Given the description of an element on the screen output the (x, y) to click on. 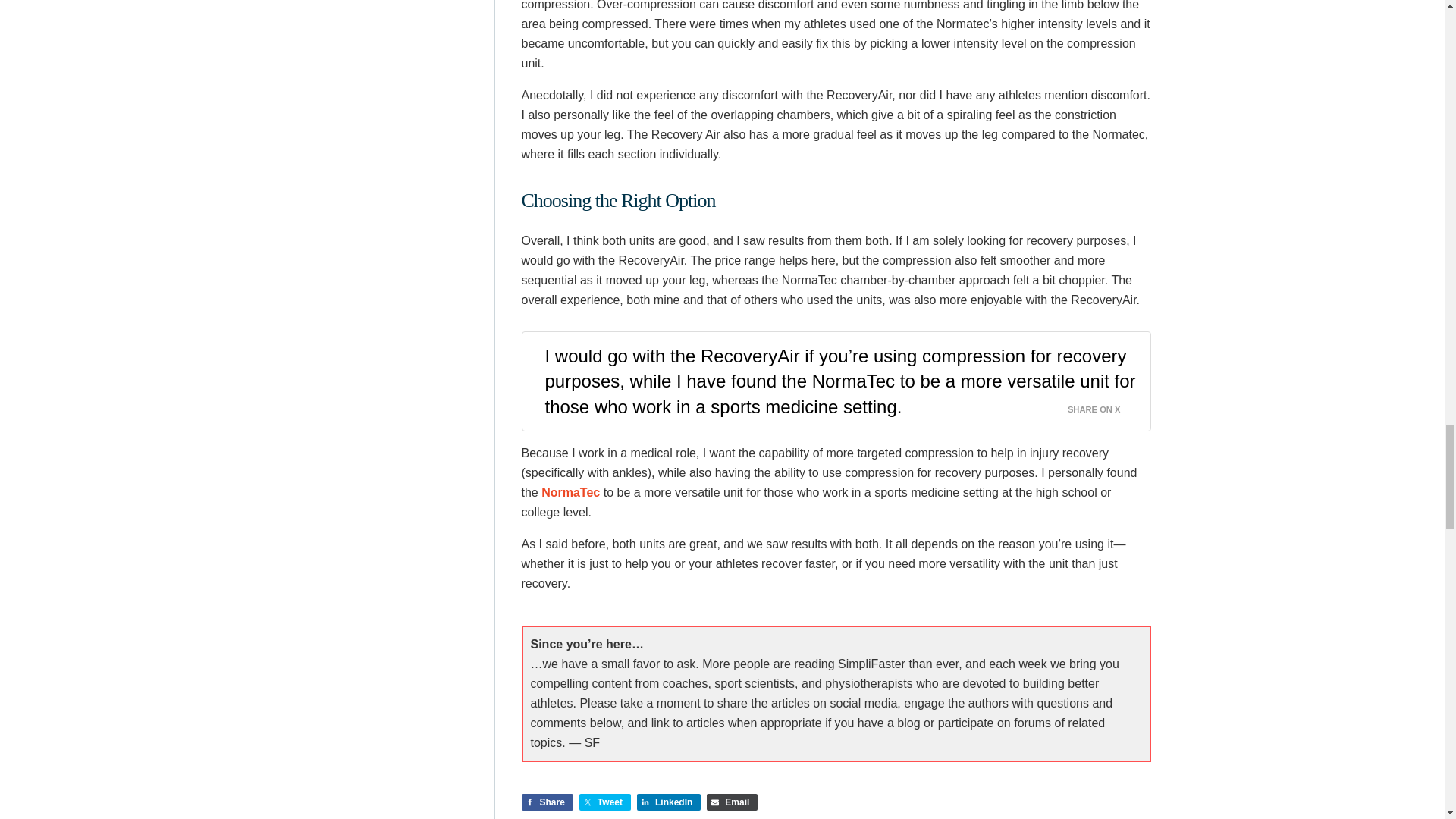
Share on Facebook (547, 801)
Share via Email (731, 801)
Share on Twitter (604, 801)
Email (731, 801)
Share on LinkedIn (668, 801)
